Given the description of an element on the screen output the (x, y) to click on. 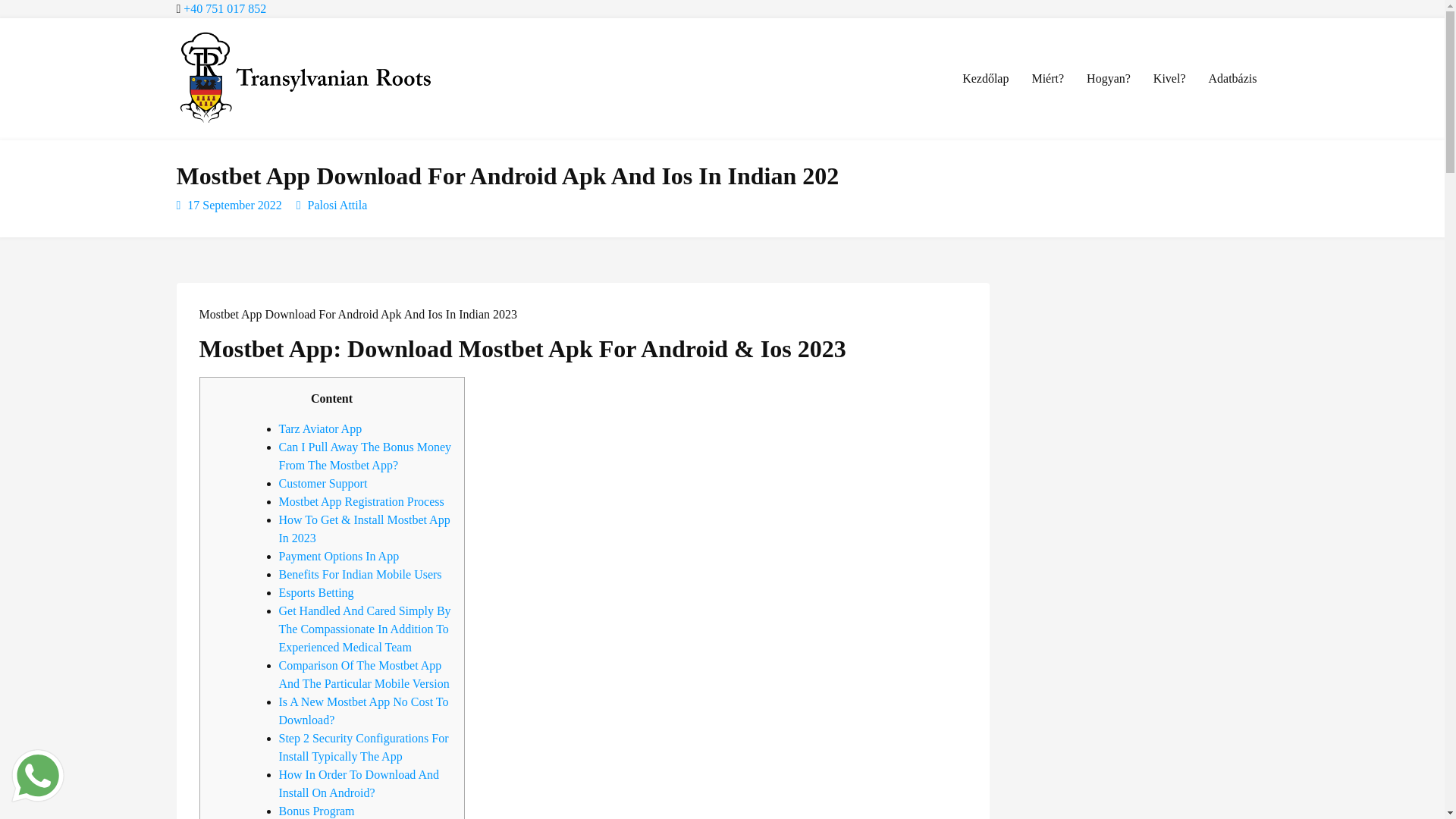
How In Order To Download And Install On Android? (359, 783)
Customer Support (323, 482)
Kivel? (1168, 78)
Bonus Program (317, 810)
Erdelyi Gyokerek (262, 140)
Can I Pull Away The Bonus Money From The Mostbet App? (365, 455)
Payment Options In App (338, 555)
Is A New Mostbet App No Cost To Download? (363, 710)
Mostbet App Registration Process (361, 501)
17 September 2022 (234, 205)
Tarz Aviator App (320, 428)
Palosi Attila (337, 205)
Step 2 Security Configurations For Install Typically The App (363, 747)
Esports Betting (316, 592)
